Given the description of an element on the screen output the (x, y) to click on. 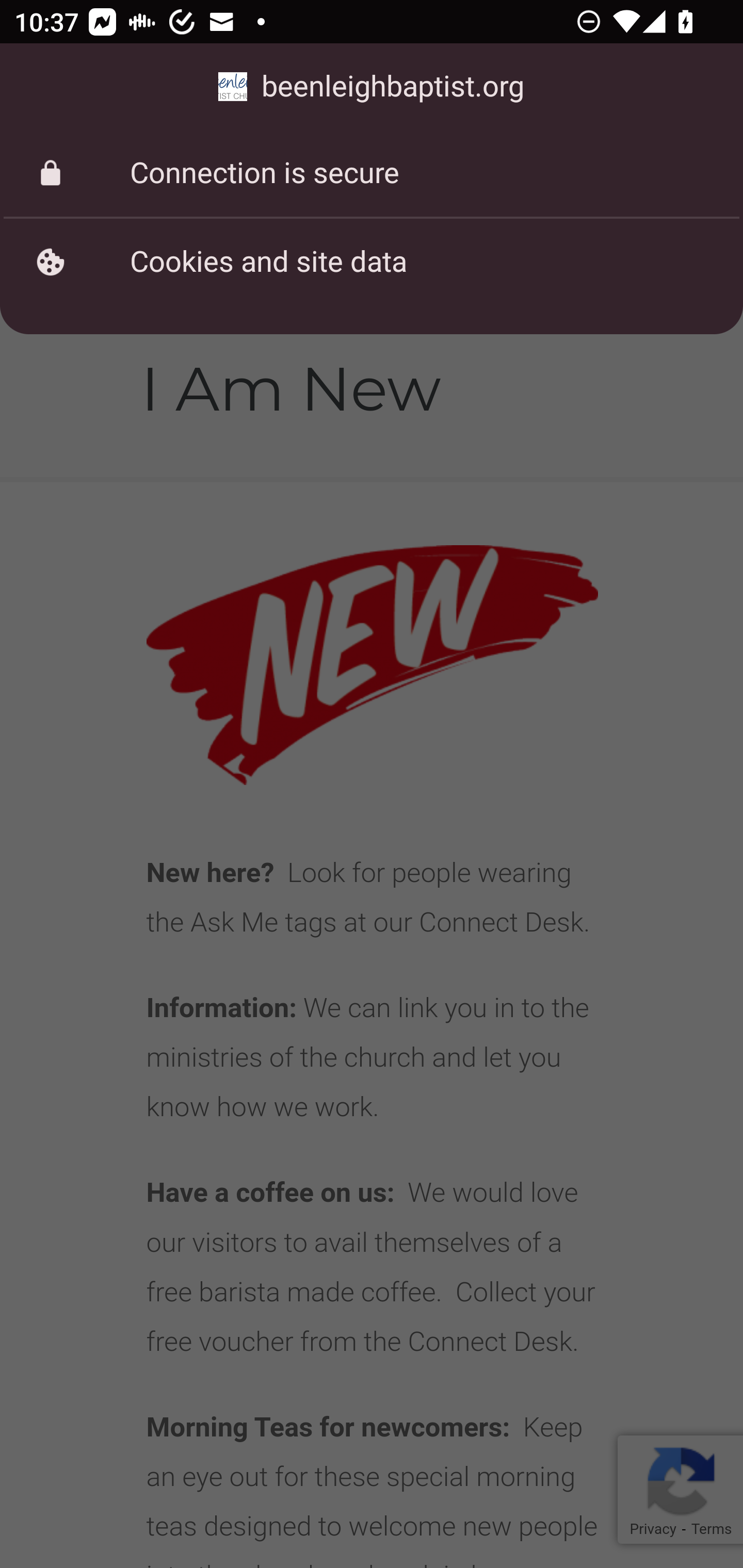
beenleighbaptist.org (371, 86)
Connection is secure (371, 173)
Cookies and site data (371, 261)
